Given the description of an element on the screen output the (x, y) to click on. 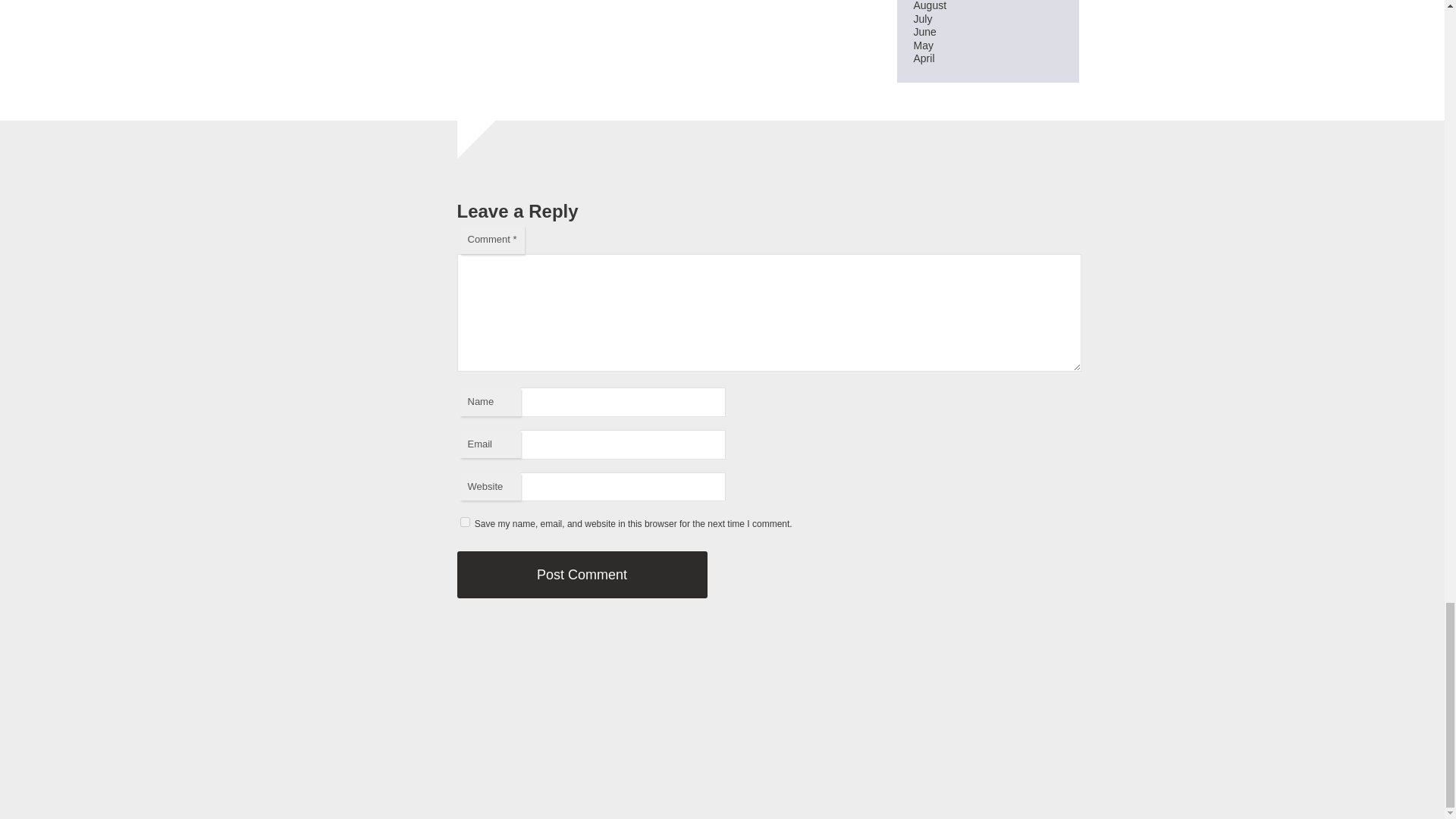
yes (464, 521)
Post Comment (581, 574)
